Given the description of an element on the screen output the (x, y) to click on. 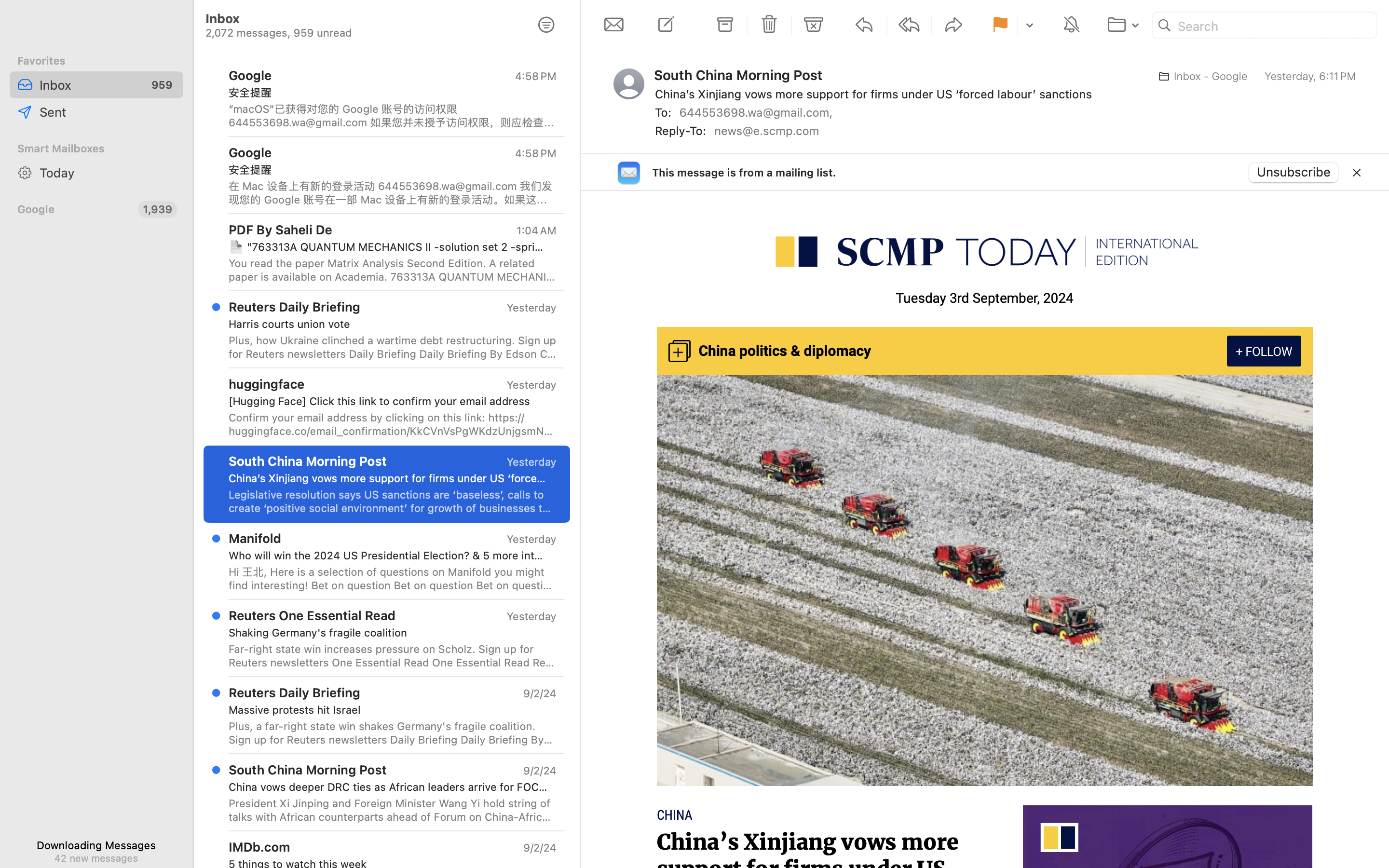
[Hugging Face] Click this link to confirm your email address Element type: AXStaticText (388, 400)
644553698.wa@gmail.com Element type: AXStaticText (758, 112)
Google Element type: AXStaticText (73, 209)
Today Element type: AXTextField (107, 172)
President Xi Jinping and Foreign Minister Wang Yi hold string of talks with African counterparts ahead of Forum on China-Africa ... - South China Morning Post, SCMP, SCMP Today: Intl Edition - President Xi Jinping and Foreign Minister Wang Yi hold string of talks with African counterparts ahead of Forum on China-Africa ... Monday 2nd September, 2024 China politics & diplomacy ChinaChina vows deeper DRC ties as African leaders arrive for FOCAC meetings2 Sep, 2024 - 05:13 pmPresident Xi Jinping and Foreign Minister Wang Yi hold string of talks with African counterparts ahead of Forum on China-Africa Cooperation. EconomyChina moves to curb money worship, extravagance and excess in financial sector2 Sep, 2024 - 04:04 pm EconomyChina’s yuan to continue to gain, but outlook hinges on Fed rate cuts: analysts2 Sep, 2024 - 05:42 pm Featured Podcast3. Millennials, GenZ and hire education Video Of The Day Hong Kong’s youngest Paralympic medallist Jasmine Ng clinches swimming bronze at age 14OPINI Element type: AXStaticText (392, 809)
